Given the description of an element on the screen output the (x, y) to click on. 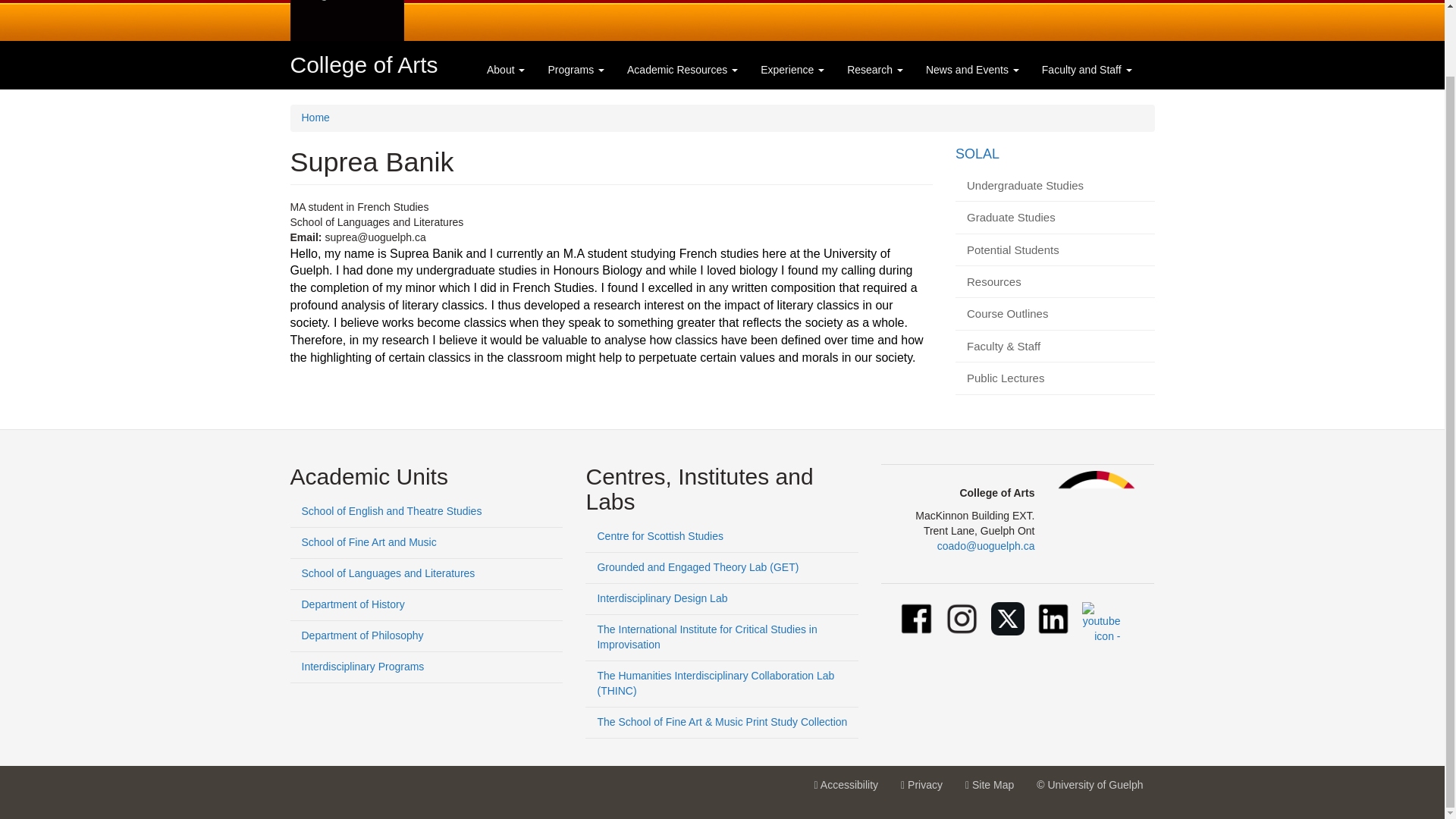
Home (820, 2)
International (364, 64)
President (748, 2)
